Given the description of an element on the screen output the (x, y) to click on. 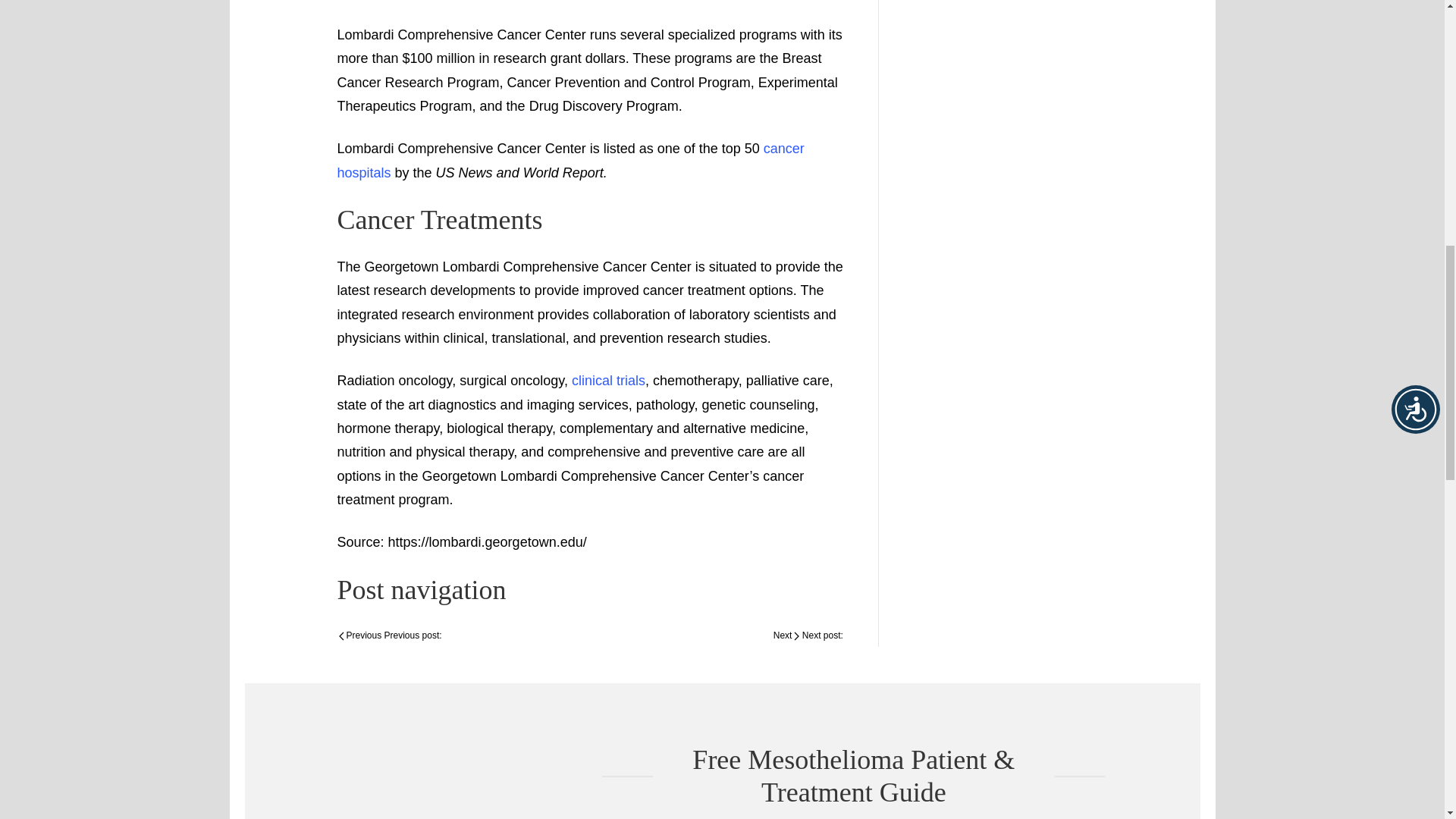
Previous Previous post: (389, 636)
cancer hospitals (569, 159)
Next Next post: (807, 636)
clinical trials (608, 380)
